Given the description of an element on the screen output the (x, y) to click on. 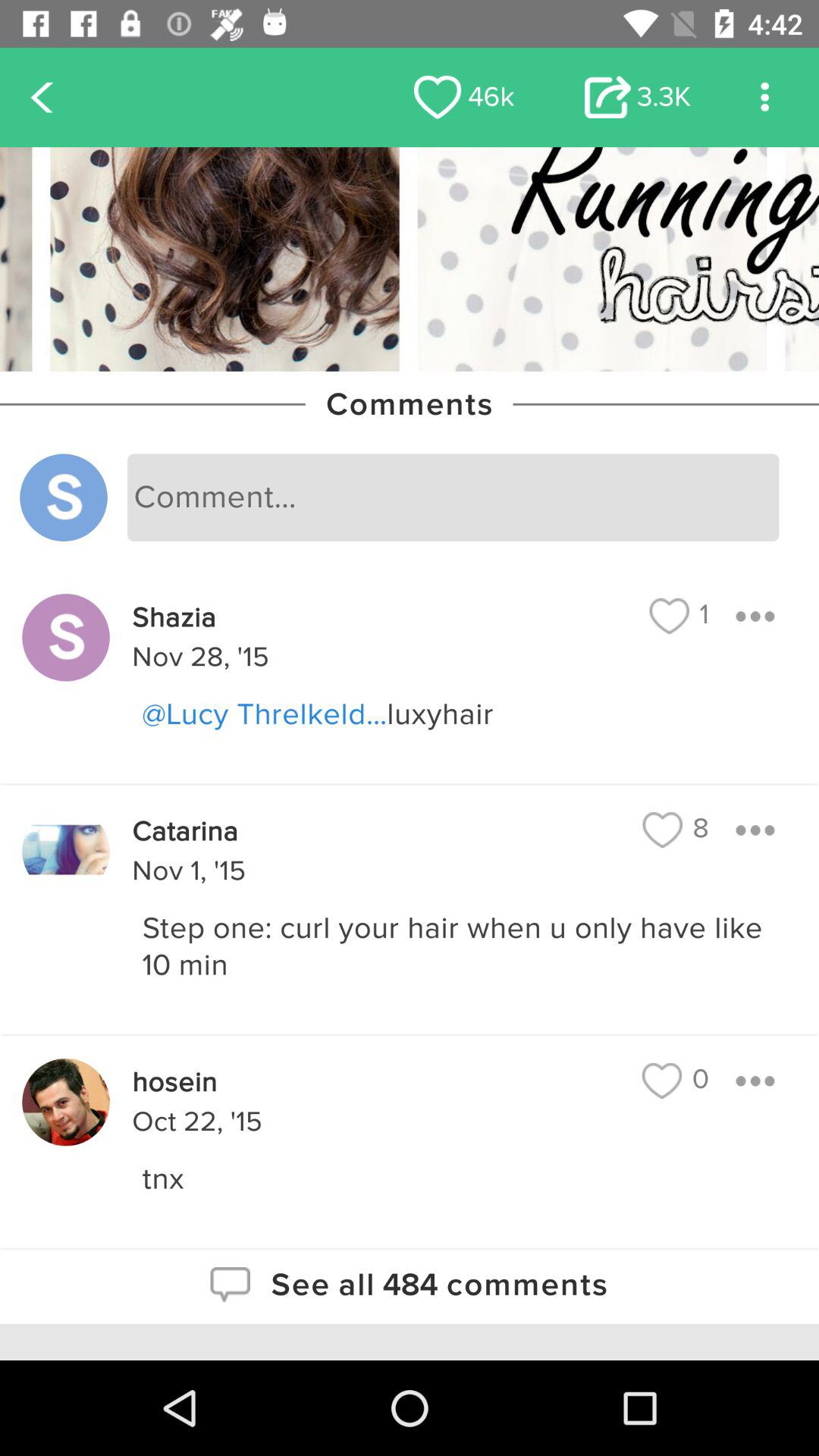
leave your comment in the box (453, 497)
